Given the description of an element on the screen output the (x, y) to click on. 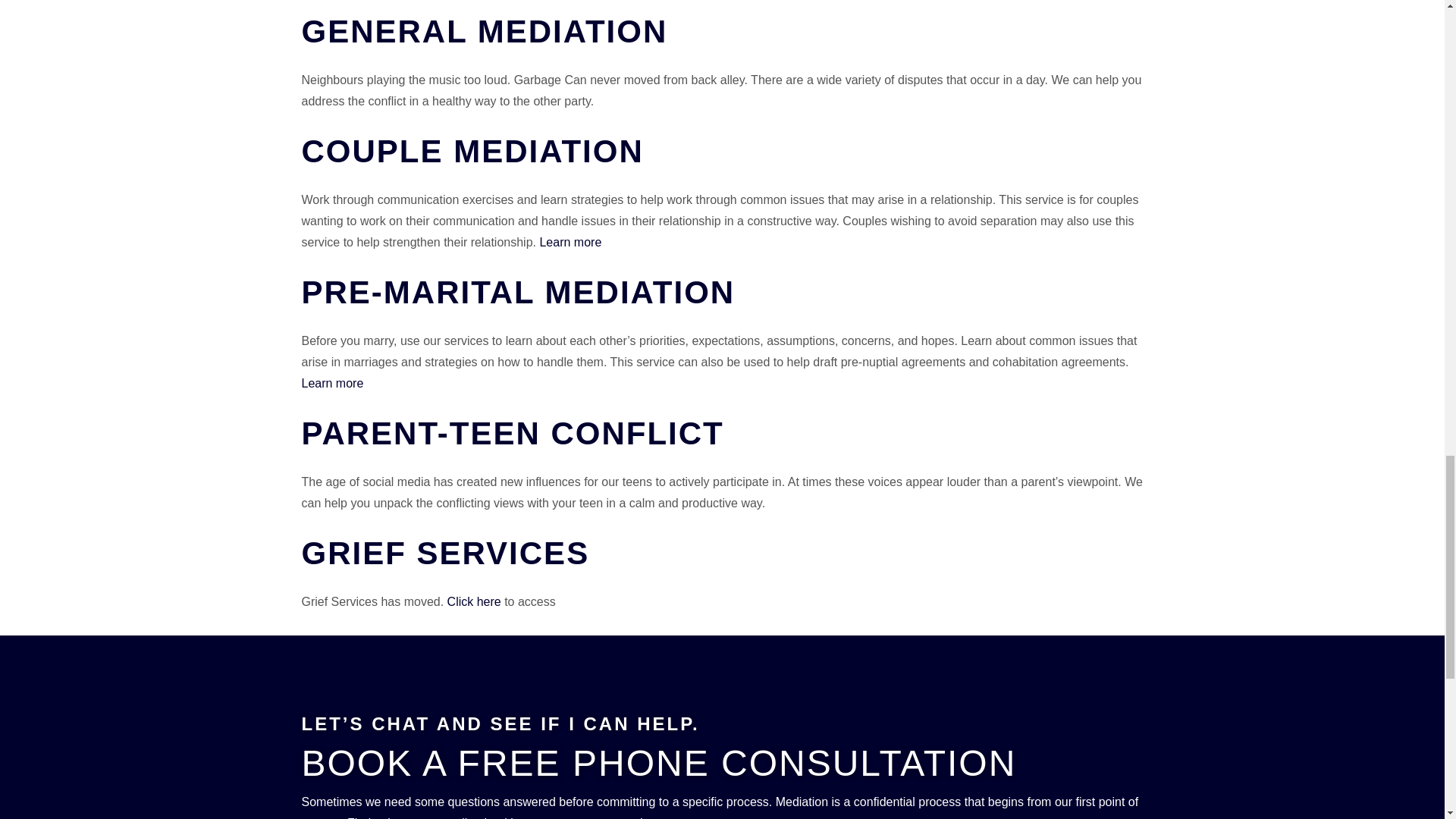
Learn more (569, 241)
Learn more (332, 382)
Click here (473, 601)
